Given the description of an element on the screen output the (x, y) to click on. 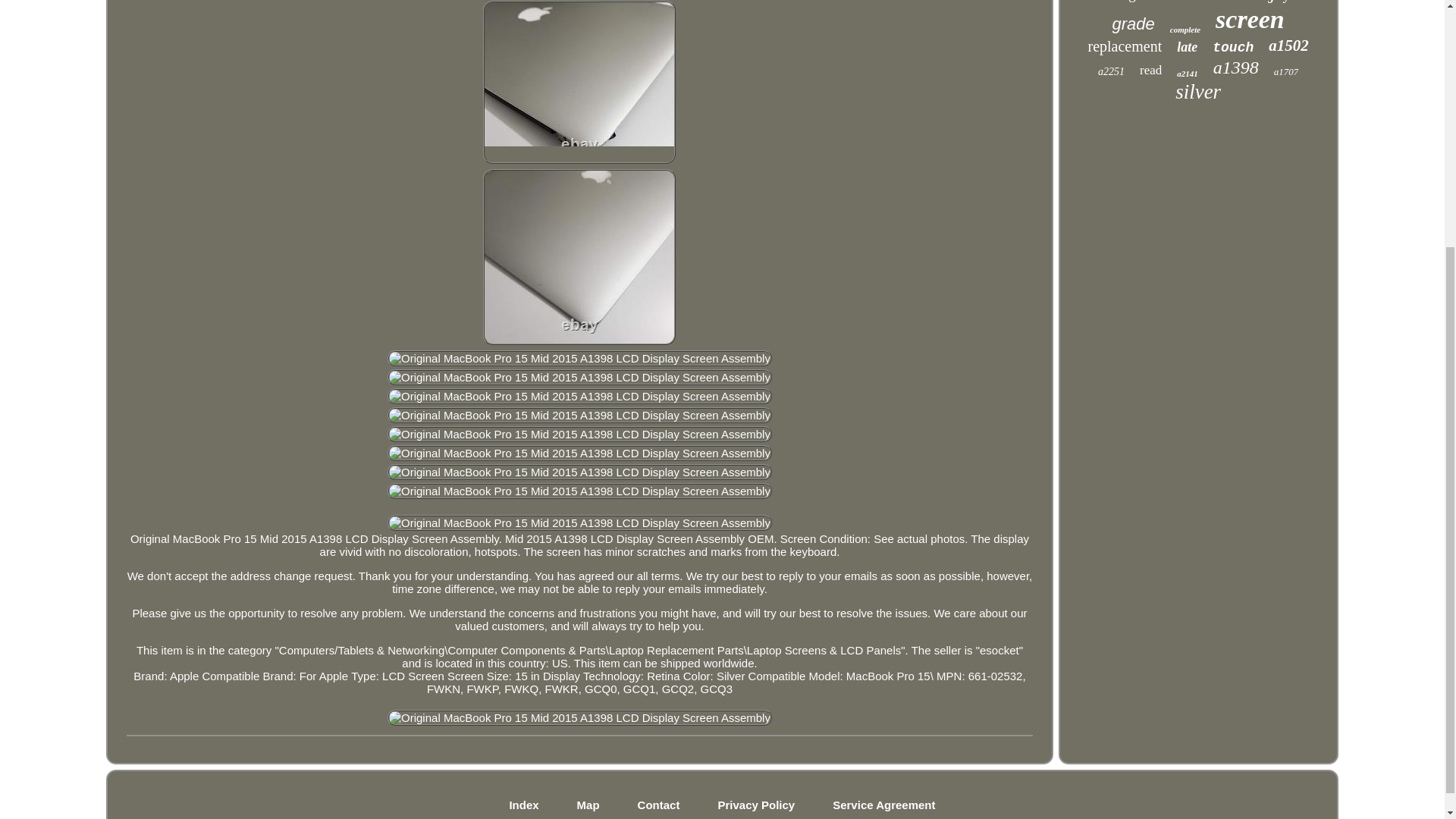
complete (1184, 29)
replacement (1124, 46)
late (1186, 47)
a1706 (1229, 1)
grade (1133, 24)
